Given the description of an element on the screen output the (x, y) to click on. 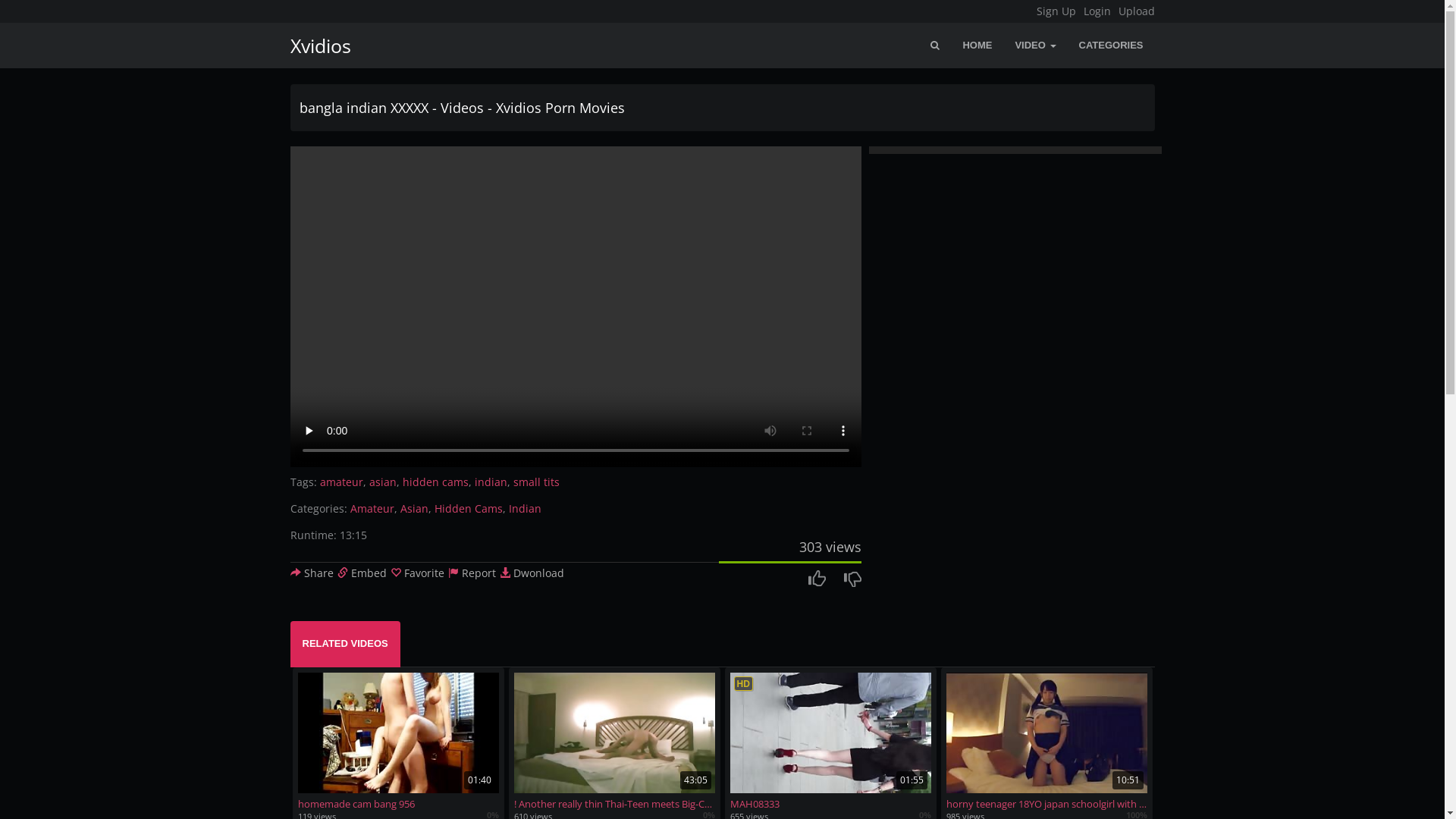
43:05
! Another really thin Thai-Teen meets Big-Cock ! Element type: text (614, 741)
Embed Element type: text (360, 572)
HOME Element type: text (976, 45)
Sign Up Element type: text (1055, 11)
Indian Element type: text (524, 508)
Report Element type: text (471, 572)
01:40
homemade cam bang 956 Element type: text (397, 741)
CATEGORIES Element type: text (1110, 45)
Upload Element type: text (1135, 11)
amateur Element type: text (341, 481)
RELATED VIDEOS Element type: text (344, 644)
Asian Element type: text (414, 508)
Amateur Element type: text (372, 508)
Hidden Cams Element type: text (467, 508)
VIDEO Element type: text (1034, 45)
Share Element type: text (310, 572)
HD
01:55
MAH08333 Element type: text (829, 741)
Favorite Element type: text (416, 572)
Xvidios Element type: text (315, 45)
Dwonload Element type: text (530, 572)
Login Element type: text (1096, 11)
asian Element type: text (381, 481)
small tits Element type: text (535, 481)
indian Element type: text (490, 481)
hidden cams Element type: text (434, 481)
